Given the description of an element on the screen output the (x, y) to click on. 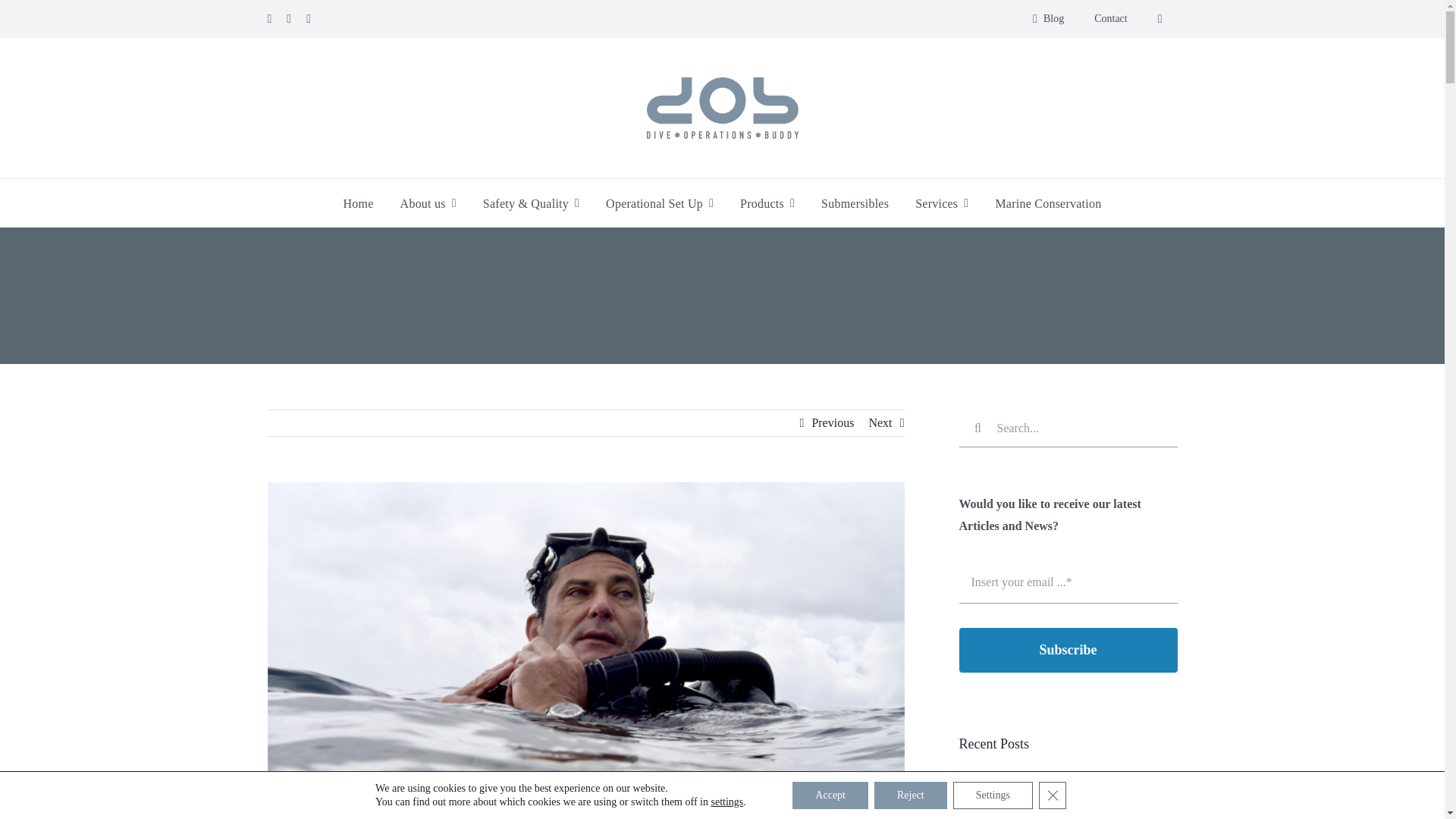
Contact (1110, 18)
Blog (1044, 18)
